Given the description of an element on the screen output the (x, y) to click on. 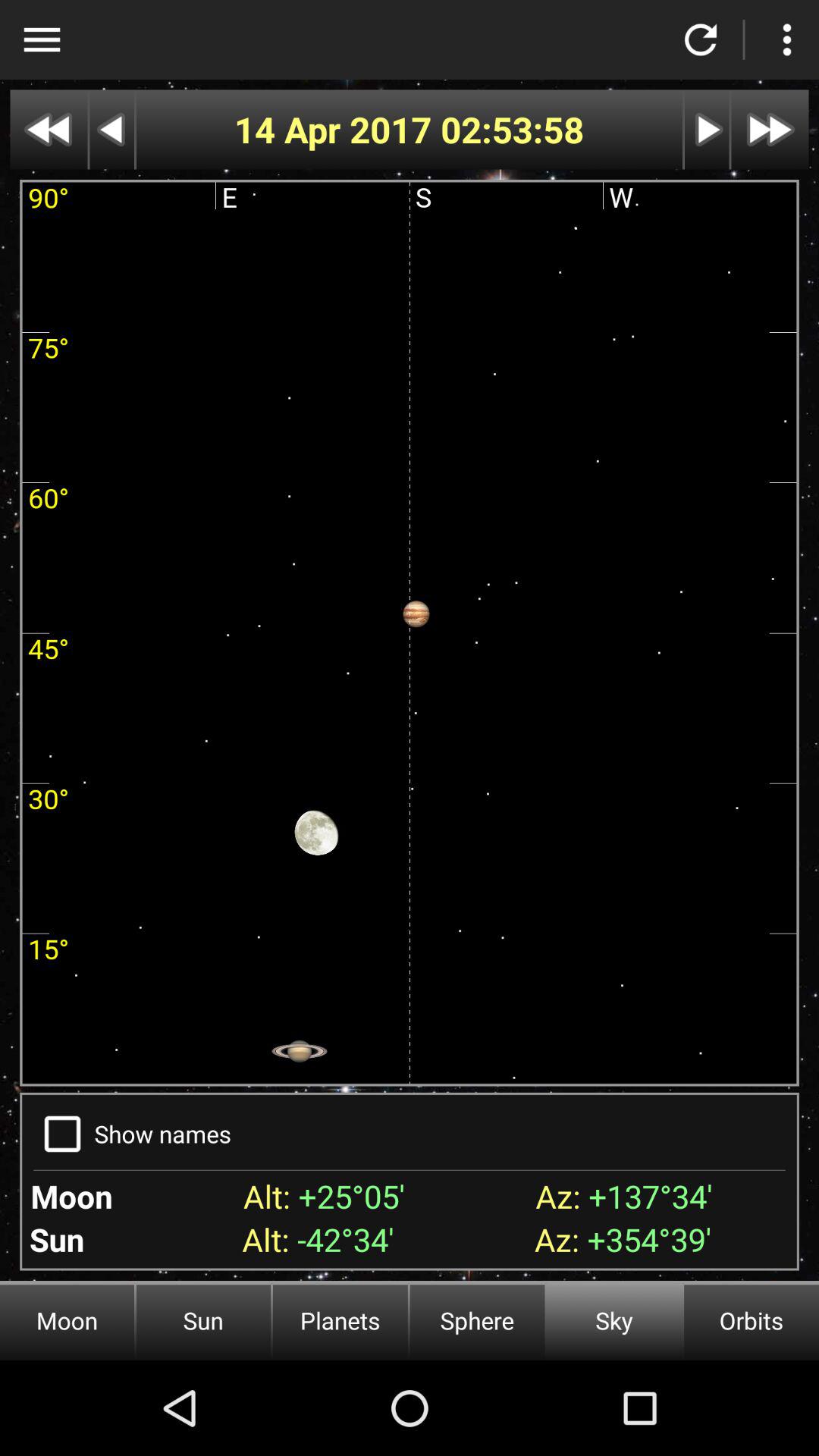
go back (111, 129)
